Given the description of an element on the screen output the (x, y) to click on. 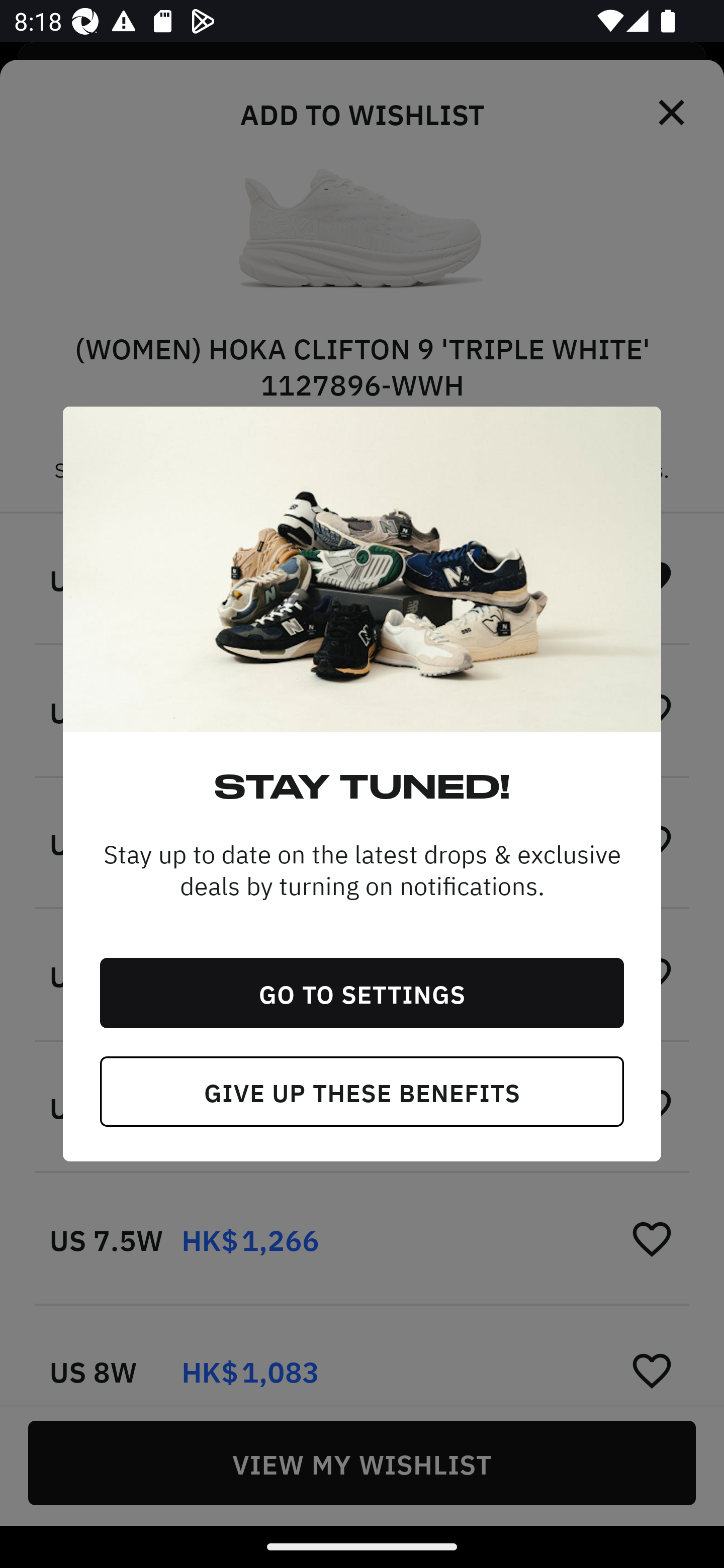
GO TO SETTINGS (361, 993)
GIVE UP THESE BENEFITS (361, 1091)
